Given the description of an element on the screen output the (x, y) to click on. 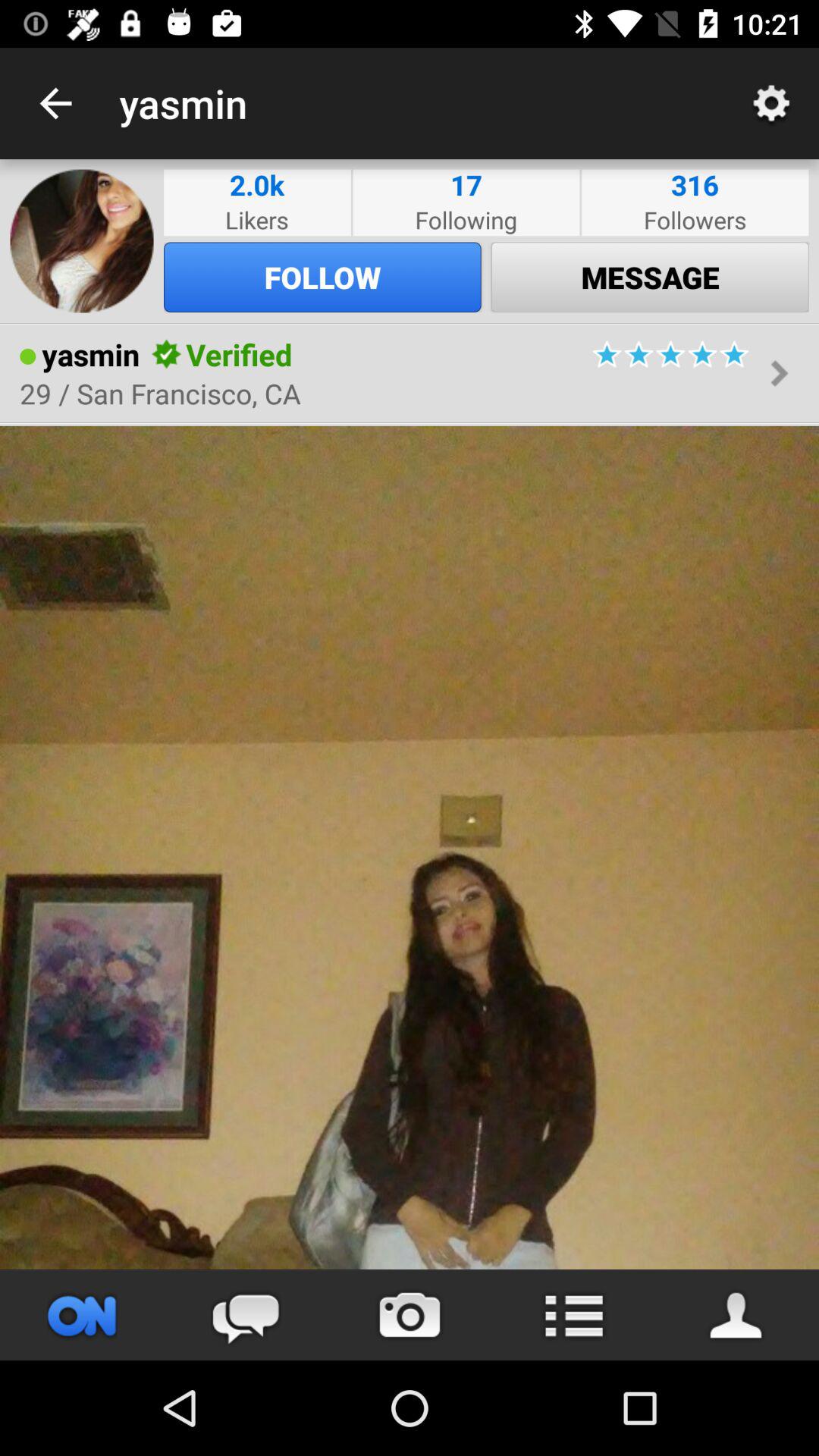
press app next to yasmin app (55, 103)
